Given the description of an element on the screen output the (x, y) to click on. 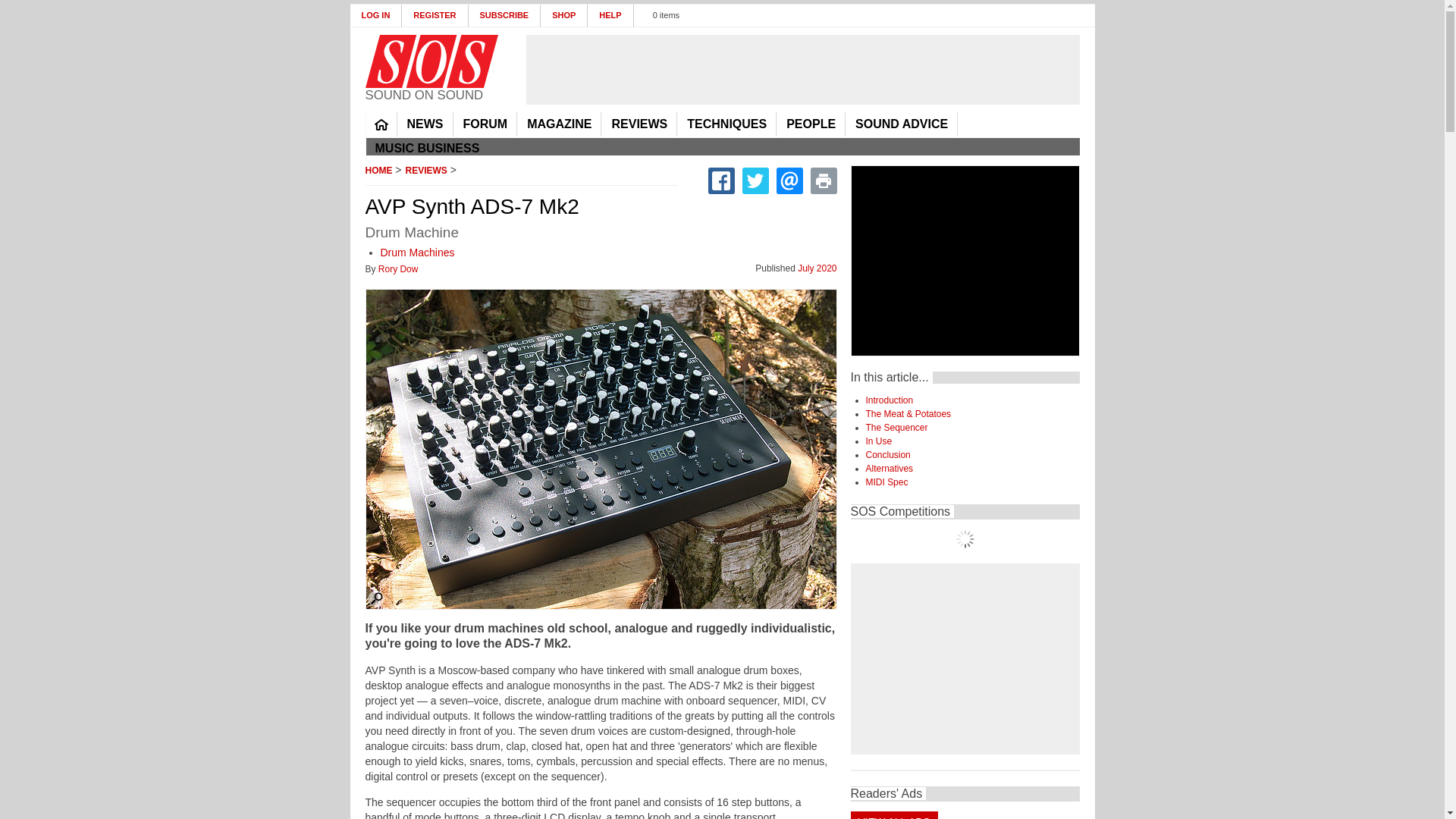
HOME (380, 124)
HELP (610, 15)
SUBSCRIBE (504, 15)
REGISTER (434, 15)
MAGAZINE (558, 124)
SHOP (564, 15)
LOG IN (376, 15)
Home (431, 61)
FORUM (484, 124)
NEWS (424, 124)
